Given the description of an element on the screen output the (x, y) to click on. 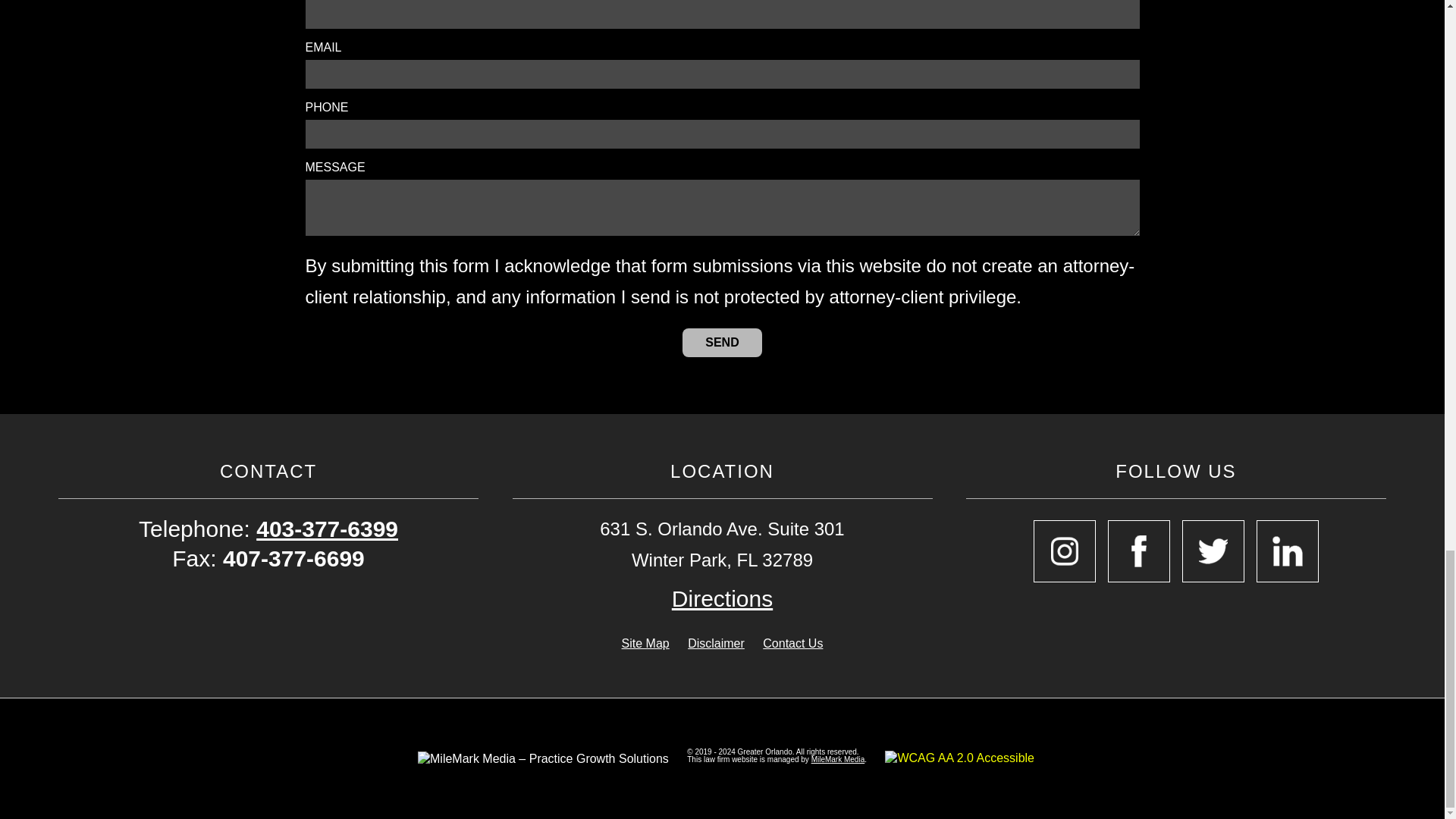
Open Facebook in a New Window (1139, 551)
Open MileMarkMedia.com in a New Window (837, 759)
Open Instagram in a New Window (1064, 551)
Open Twitter in a New Window (1213, 551)
Send (721, 342)
Open Google Map in a New Window (722, 598)
Open Linkedin in a New Window (1287, 551)
